Given the description of an element on the screen output the (x, y) to click on. 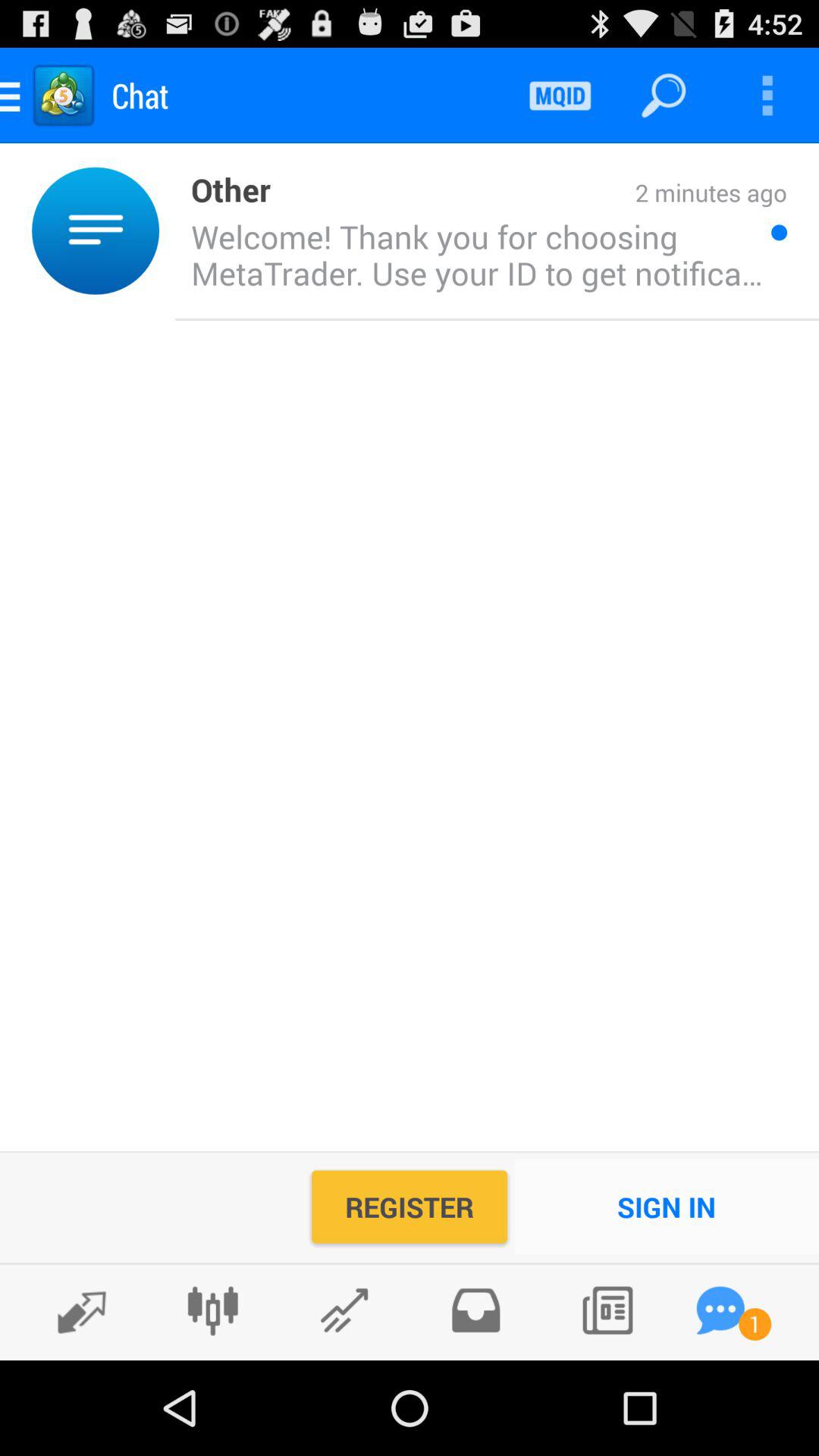
more (767, 95)
